Given the description of an element on the screen output the (x, y) to click on. 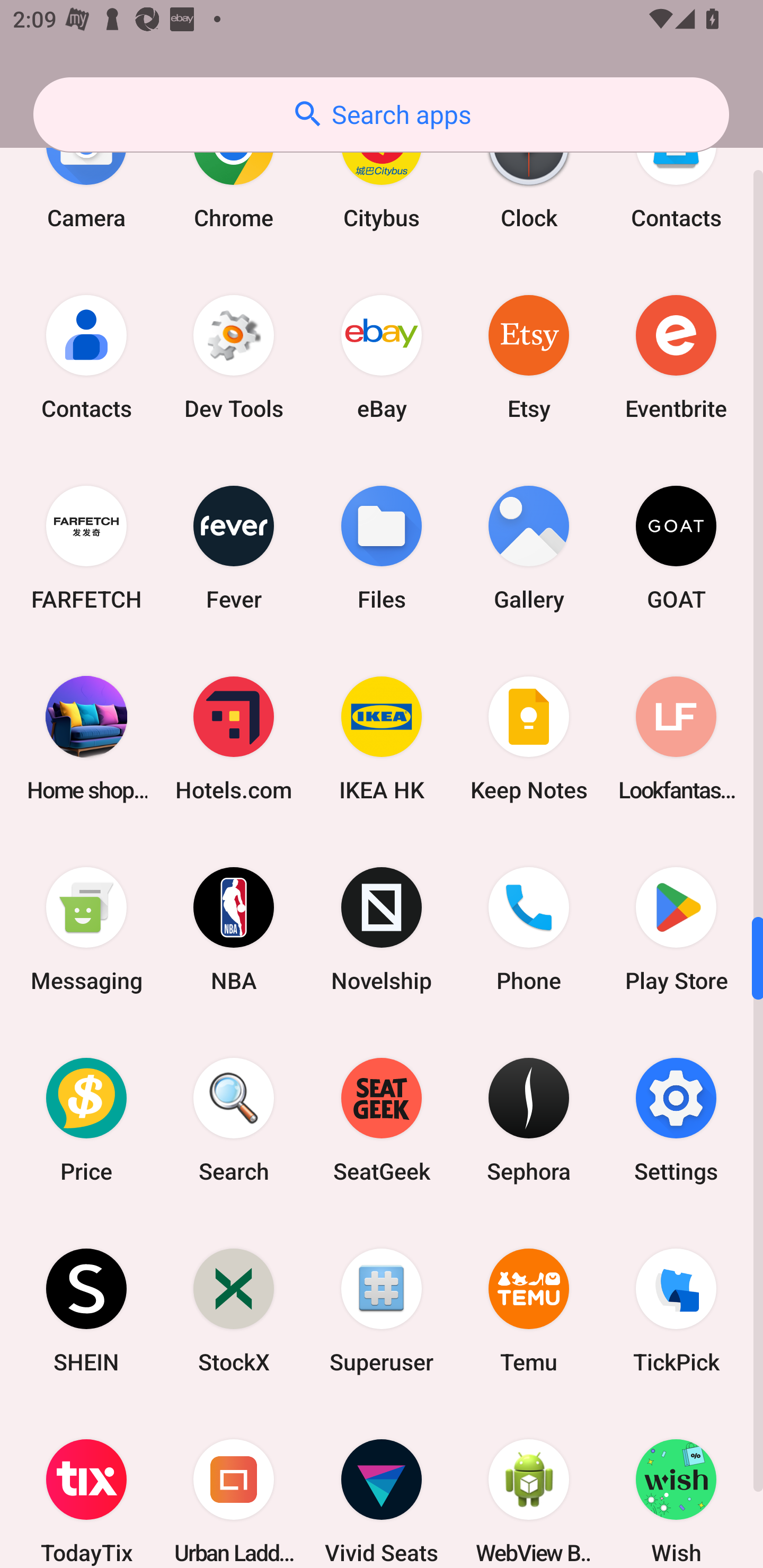
  Search apps (381, 114)
Contacts (86, 357)
Dev Tools (233, 357)
eBay (381, 357)
Etsy (528, 357)
Eventbrite (676, 357)
FARFETCH (86, 547)
Fever (233, 547)
Files (381, 547)
Gallery (528, 547)
GOAT (676, 547)
Home shopping (86, 738)
Hotels.com (233, 738)
IKEA HK (381, 738)
Keep Notes (528, 738)
Lookfantastic (676, 738)
Messaging (86, 928)
NBA (233, 928)
Novelship (381, 928)
Phone (528, 928)
Play Store (676, 928)
Price (86, 1119)
Search (233, 1119)
SeatGeek (381, 1119)
Sephora (528, 1119)
Settings (676, 1119)
SHEIN (86, 1310)
StockX (233, 1310)
Superuser (381, 1310)
Temu (528, 1310)
TickPick (676, 1310)
TodayTix (86, 1487)
Urban Ladder (233, 1487)
Vivid Seats (381, 1487)
WebView Browser Tester (528, 1487)
Wish (676, 1487)
